Given the description of an element on the screen output the (x, y) to click on. 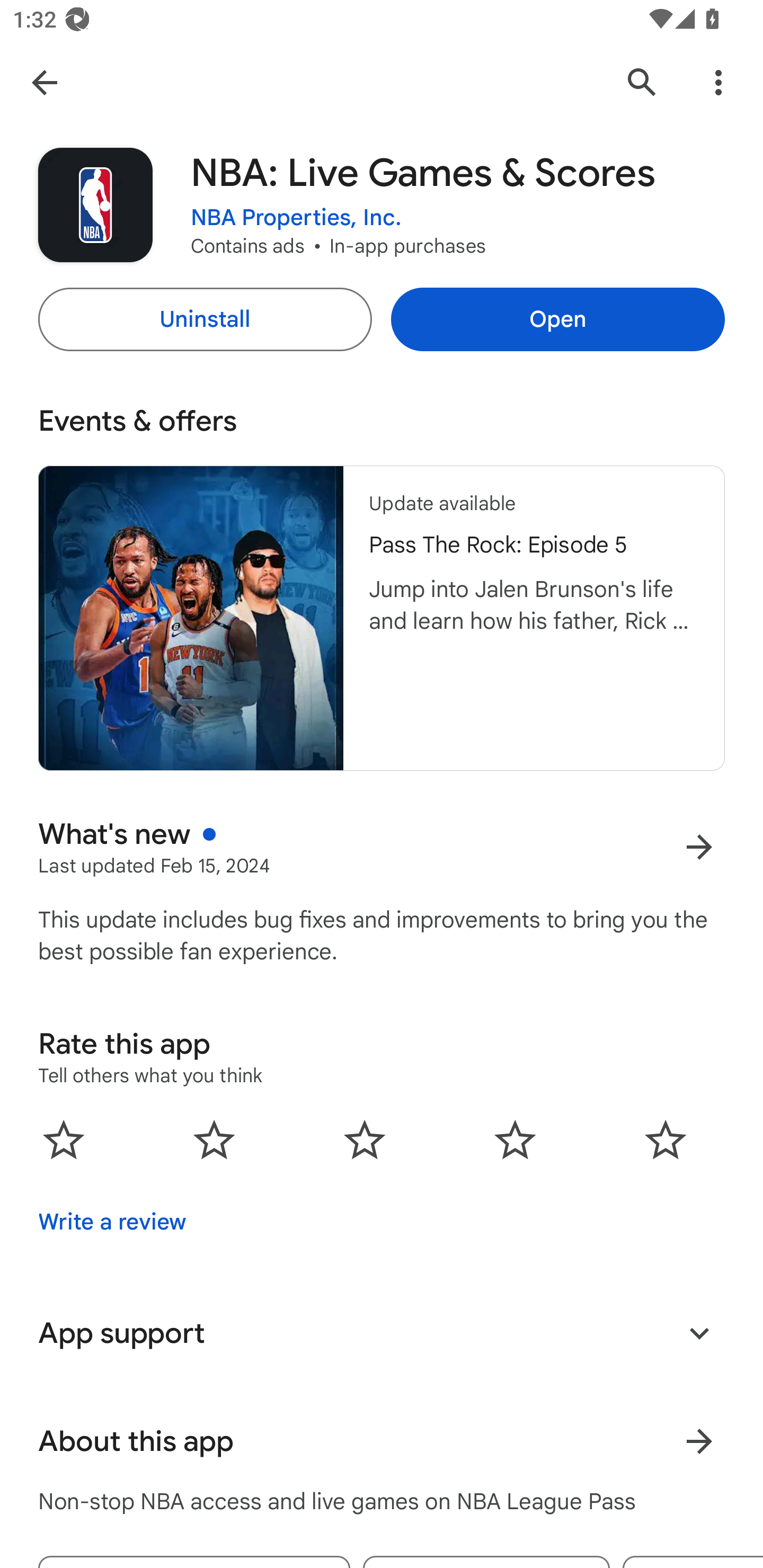
Navigate up (44, 81)
Search Google Play (642, 81)
More Options (718, 81)
NBA Properties, Inc. (295, 217)
Uninstall (205, 318)
Open (557, 318)
More results for What's new (699, 847)
0.0 (364, 1138)
Write a review (112, 1221)
App support Expand (381, 1333)
Expand (699, 1333)
About this app Learn more About this app (381, 1441)
Learn more About this app (699, 1441)
